Given the description of an element on the screen output the (x, y) to click on. 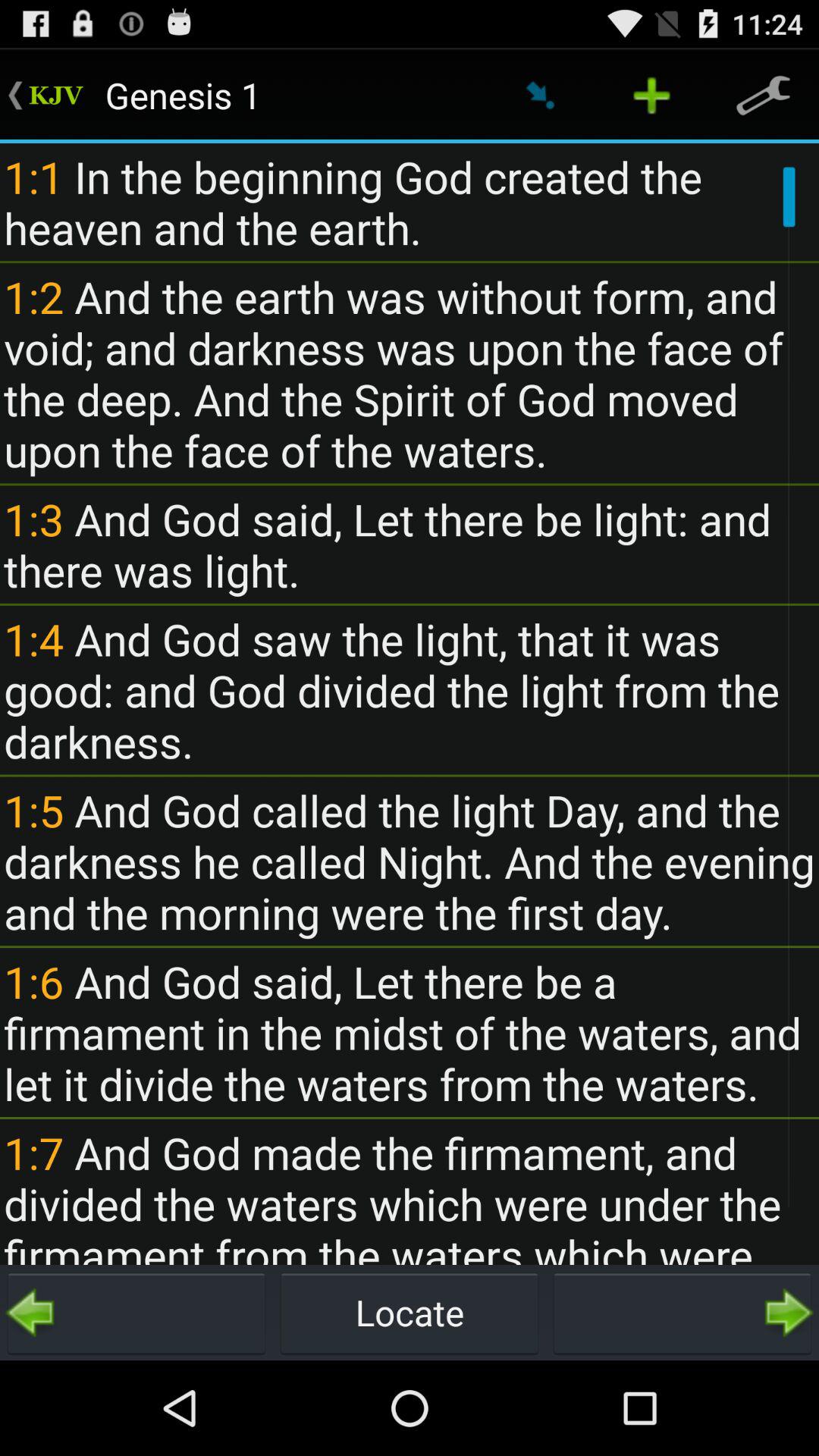
press item next to locate icon (136, 1312)
